Given the description of an element on the screen output the (x, y) to click on. 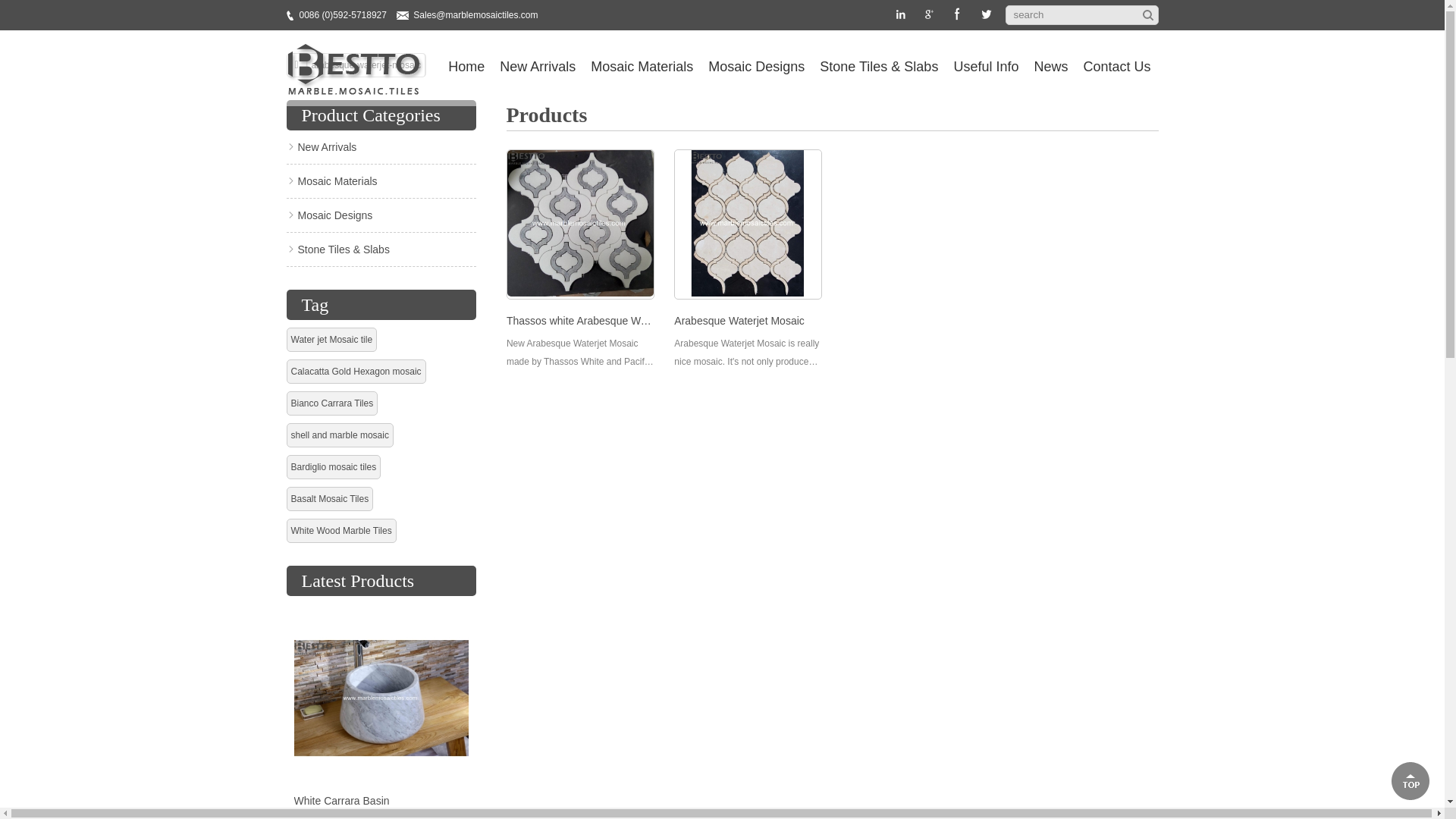
Mosaic Designs (756, 66)
Mosaic Materials (641, 66)
Home (465, 66)
search (1073, 14)
New Arrivals (537, 66)
